Given the description of an element on the screen output the (x, y) to click on. 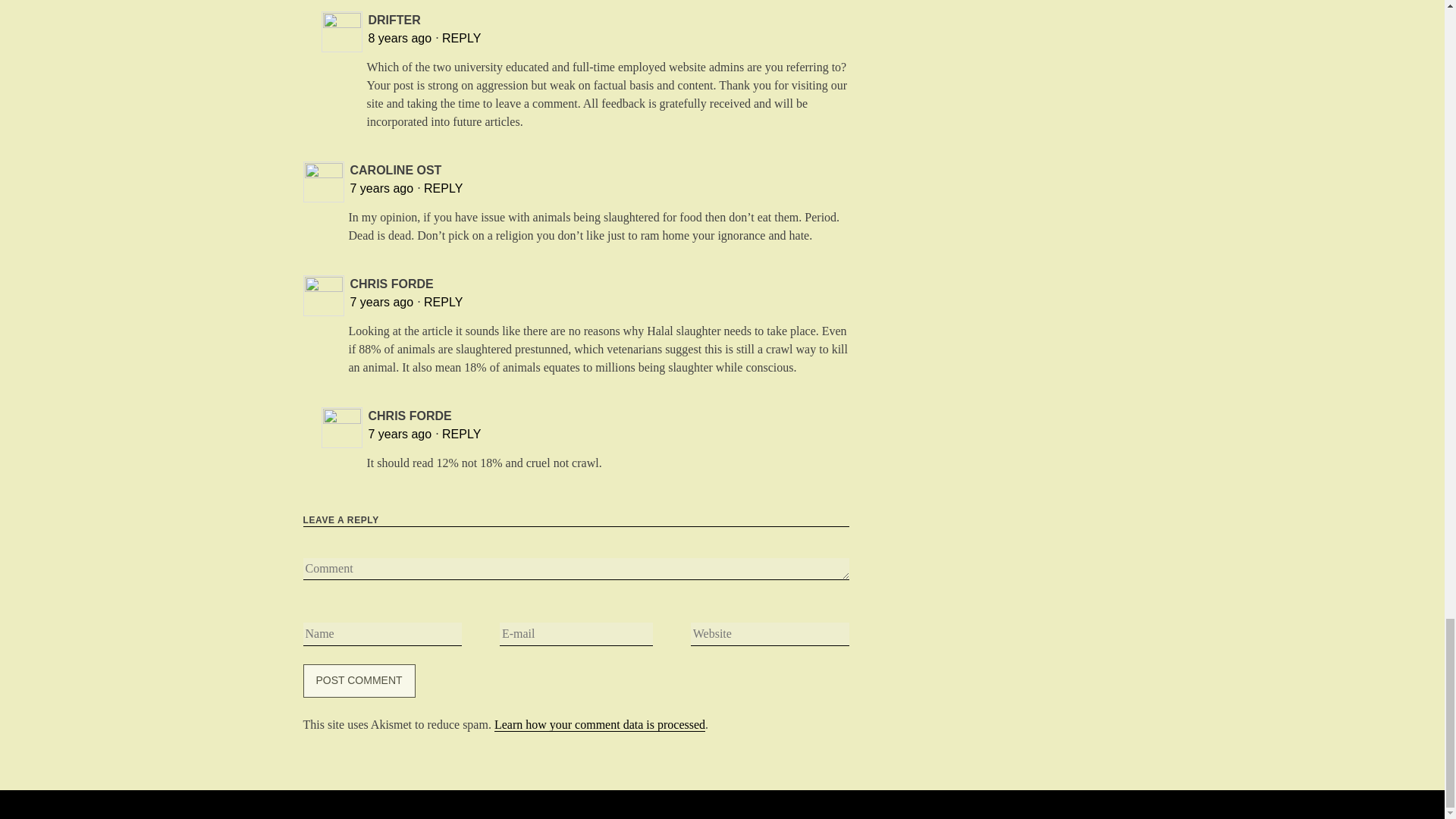
Post Comment (358, 680)
